Given the description of an element on the screen output the (x, y) to click on. 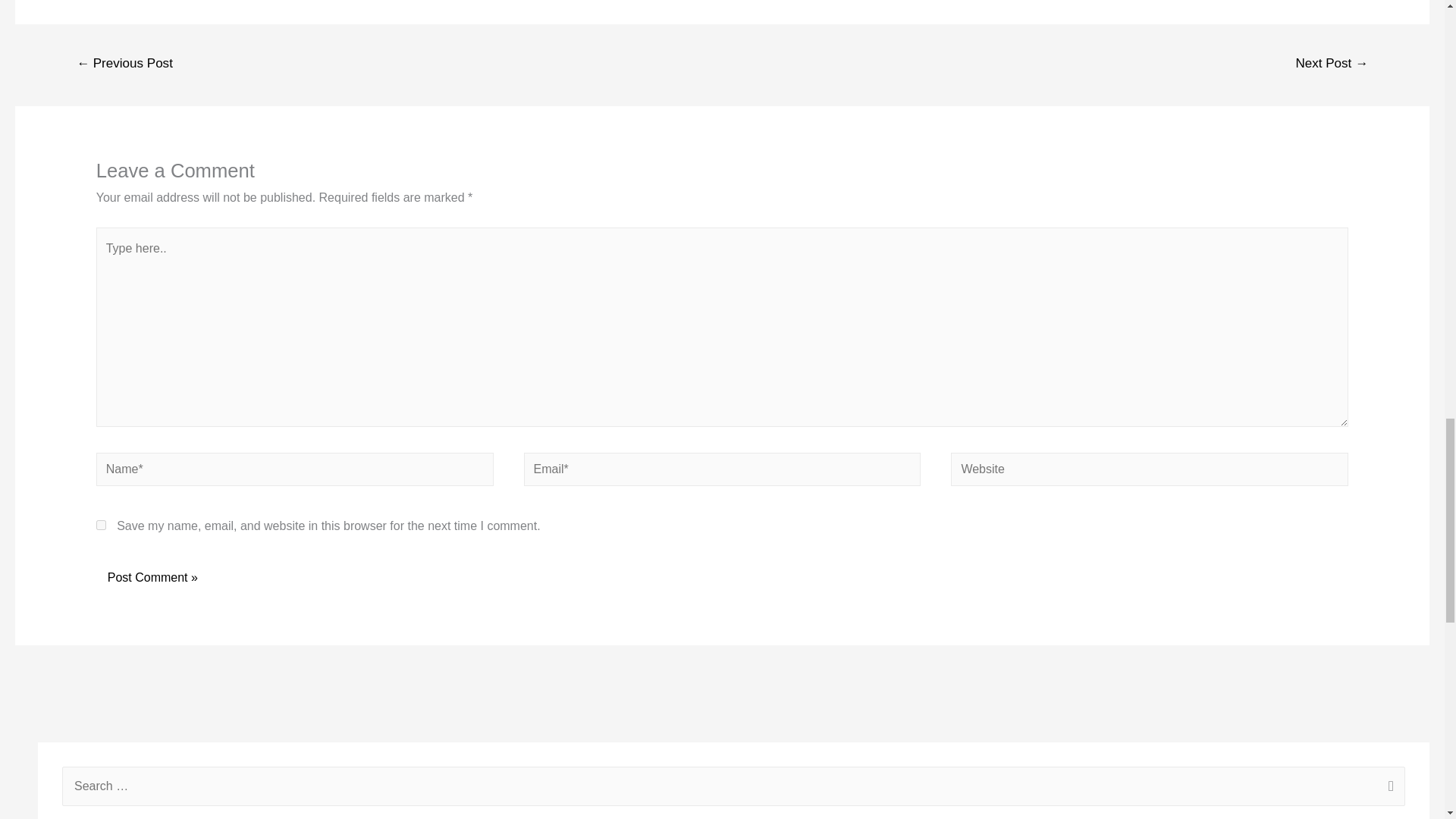
yes (101, 524)
